Given the description of an element on the screen output the (x, y) to click on. 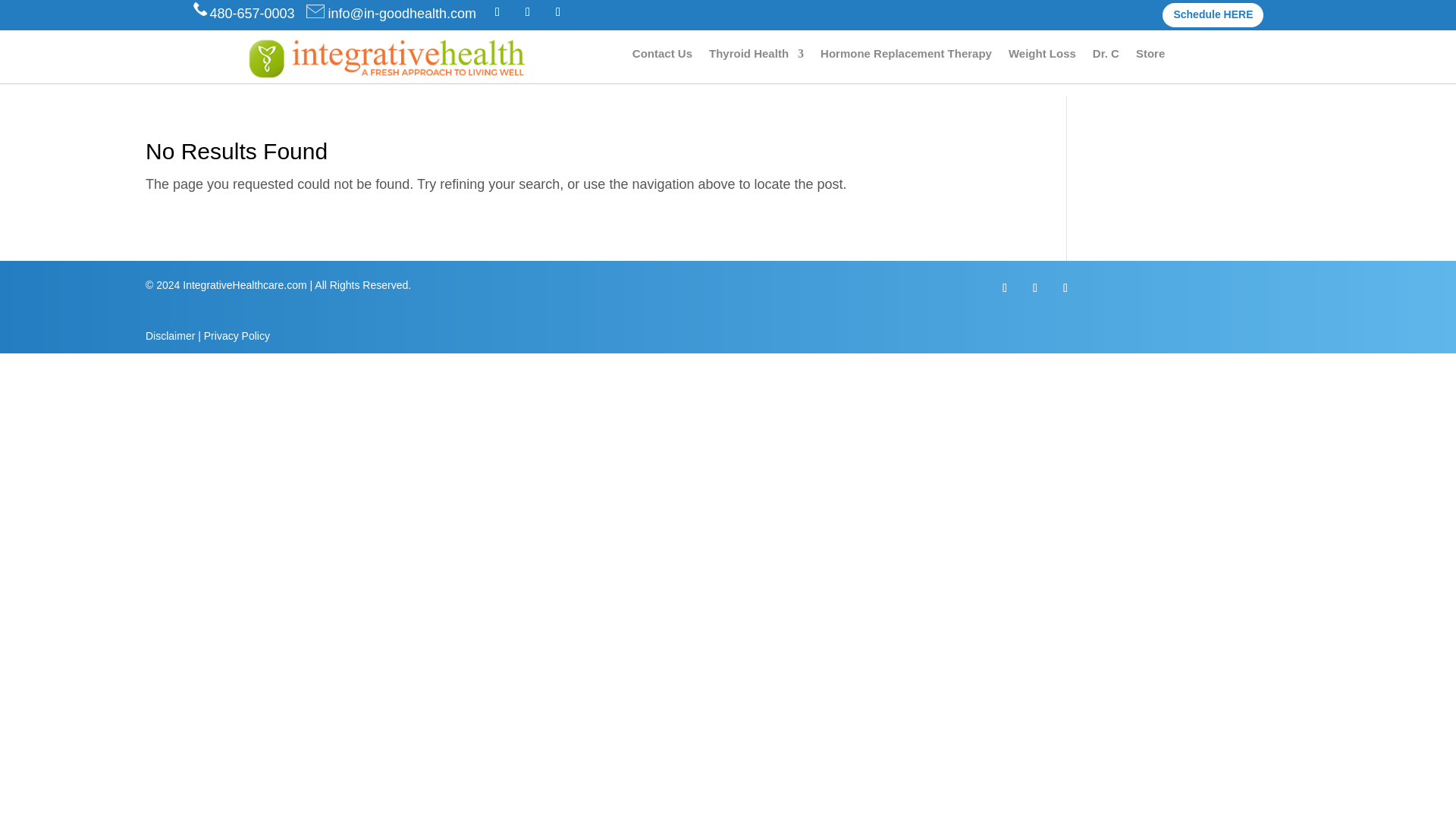
Follow on TikTok (558, 12)
Store (1149, 56)
480-657-0003 (242, 13)
IHC-Logo1 (387, 58)
Weight Loss (1042, 56)
Follow on Facebook (496, 12)
Follow on Instagram (1034, 288)
Schedule HERE (1212, 15)
Dr. C (1106, 56)
Follow on TikTok (1064, 288)
